Given the description of an element on the screen output the (x, y) to click on. 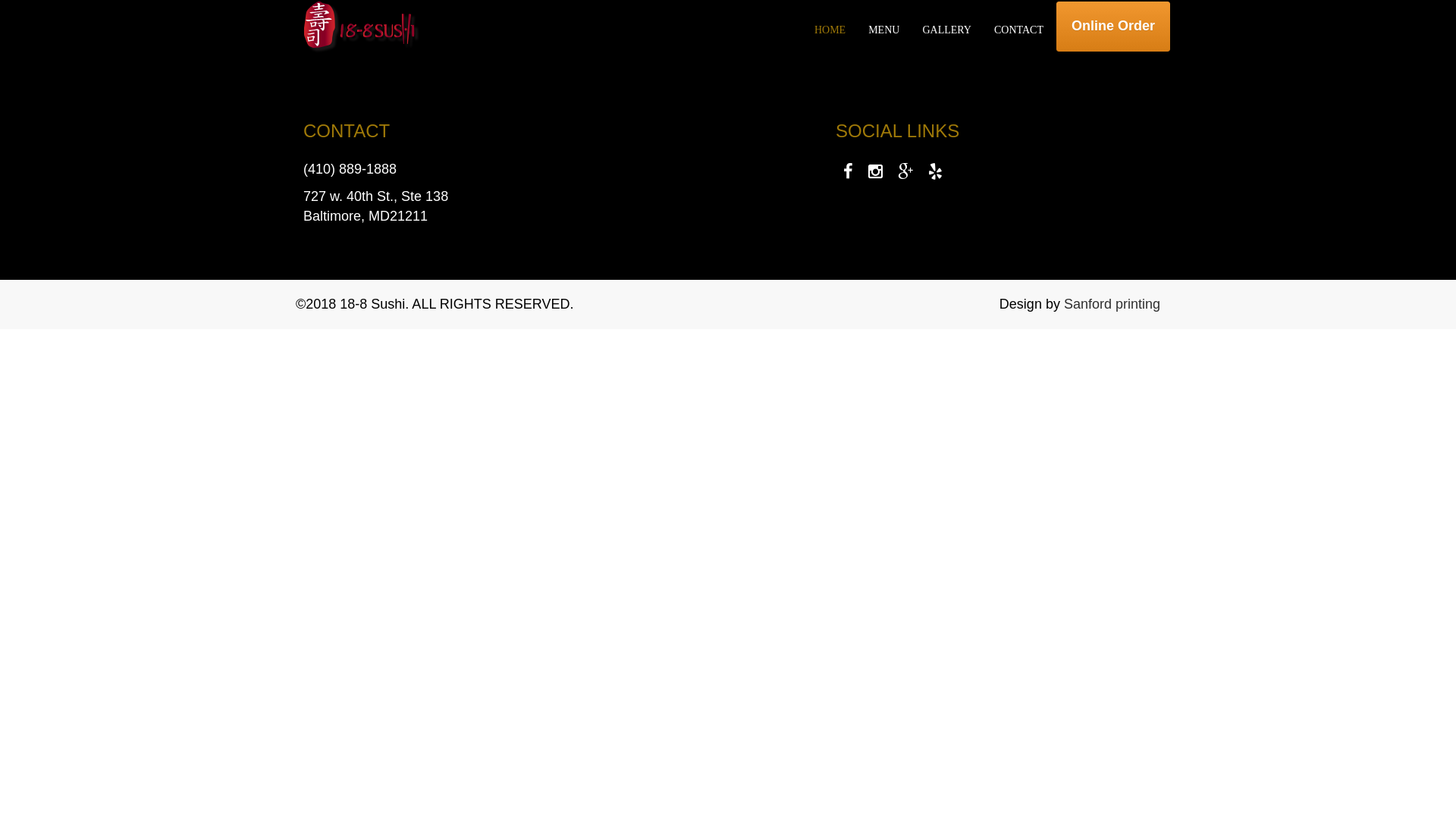
CONTACT Element type: text (1018, 30)
Sanford printing Element type: text (1111, 302)
Facebook Element type: hover (847, 171)
MENU Element type: text (883, 30)
Google+ Element type: hover (905, 171)
Instagram Element type: hover (875, 171)
GALLERY Element type: text (946, 30)
Youtube Element type: hover (935, 171)
HOME Element type: text (829, 30)
